Given the description of an element on the screen output the (x, y) to click on. 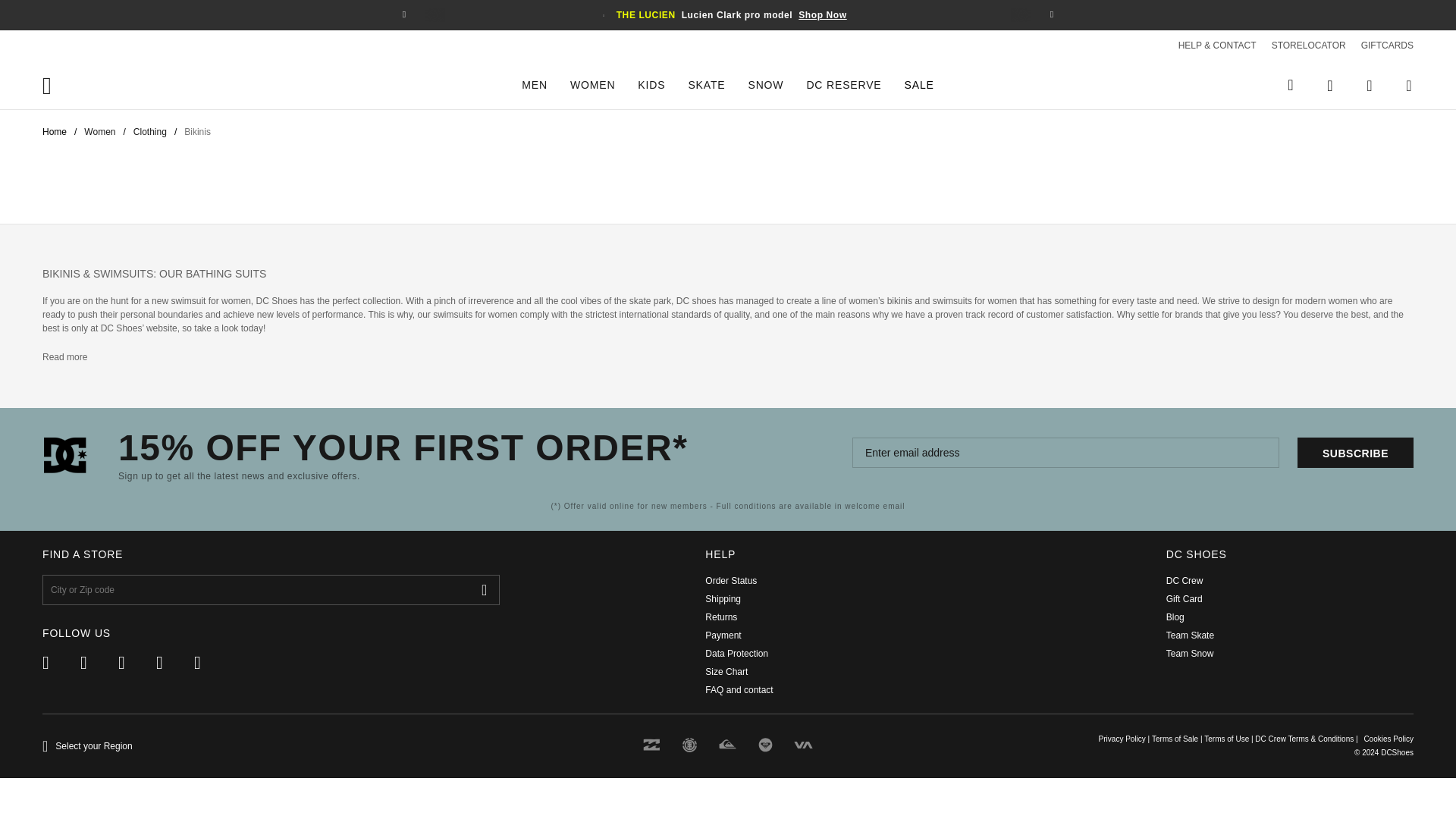
Twitter (98, 662)
STORELOCATOR (1300, 45)
DC Shoes (74, 84)
Facebook (61, 662)
Women (99, 131)
Shop Now (821, 15)
Giftcards (1379, 45)
Instagram (136, 662)
Home (54, 131)
Clothing (150, 131)
